Given the description of an element on the screen output the (x, y) to click on. 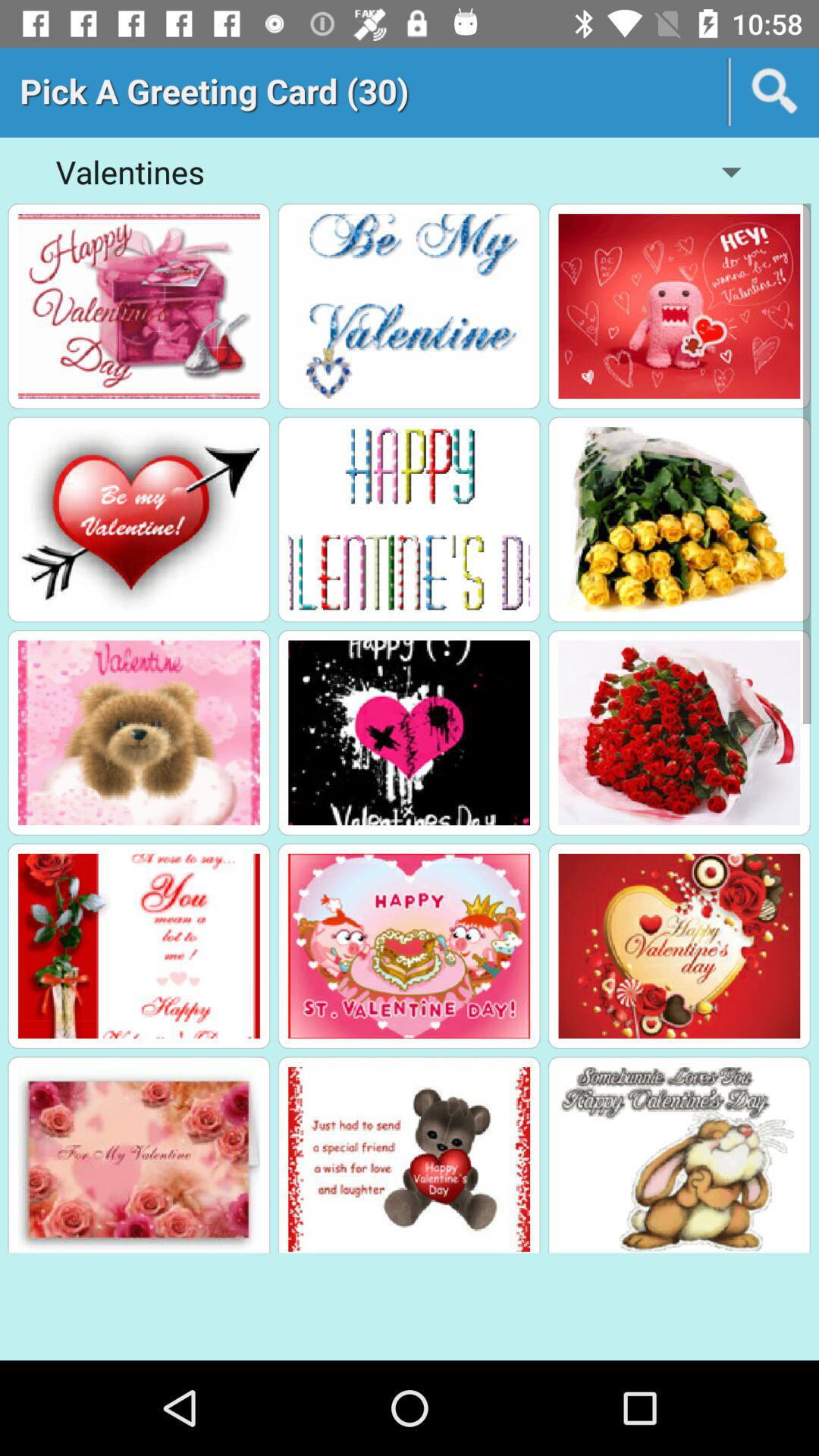
click to search icon (774, 91)
